Given the description of an element on the screen output the (x, y) to click on. 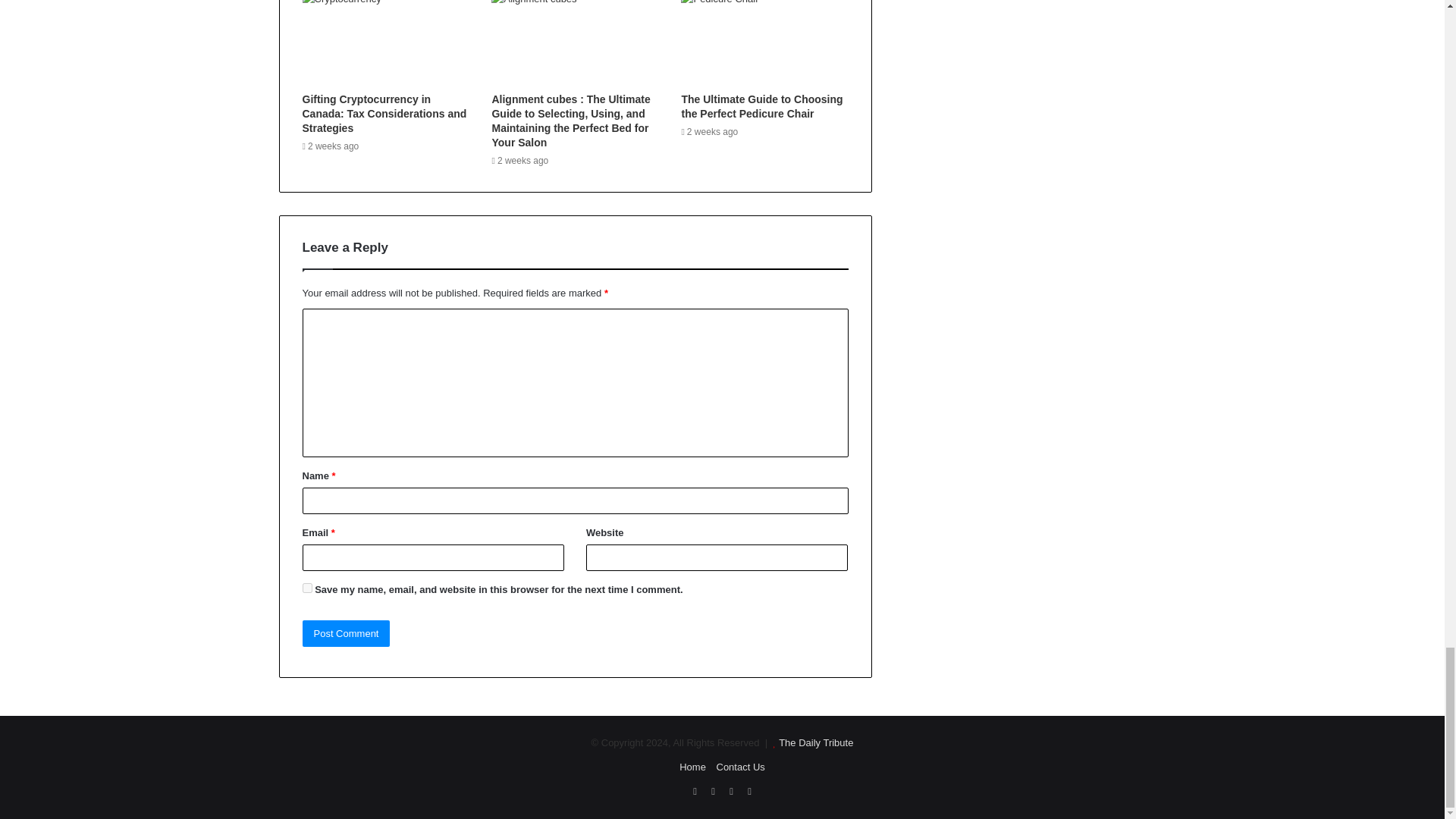
Post Comment (345, 633)
yes (306, 587)
